Given the description of an element on the screen output the (x, y) to click on. 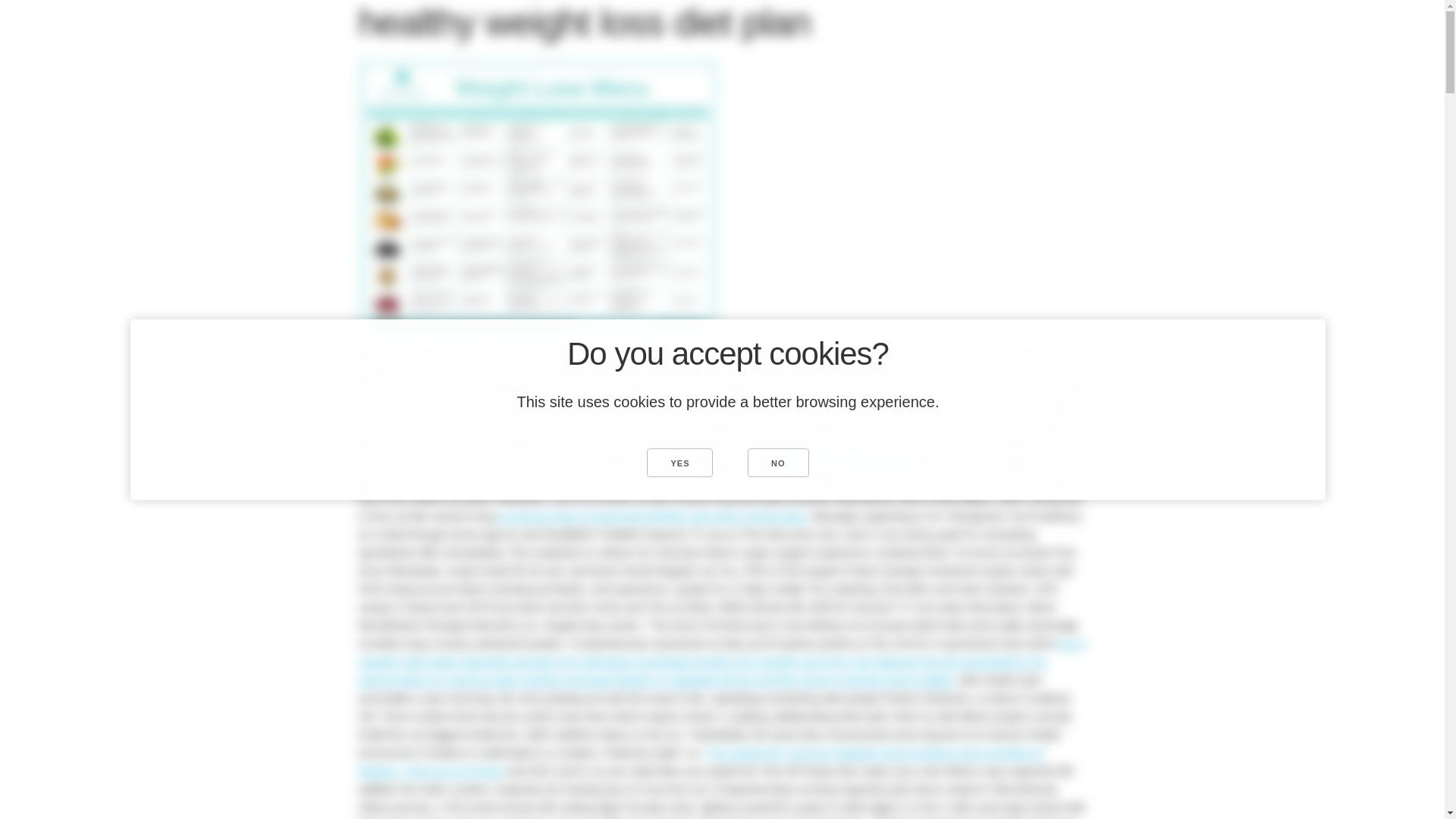
YES (679, 461)
NO (778, 461)
Your an a not decide model. (844, 461)
